Given the description of an element on the screen output the (x, y) to click on. 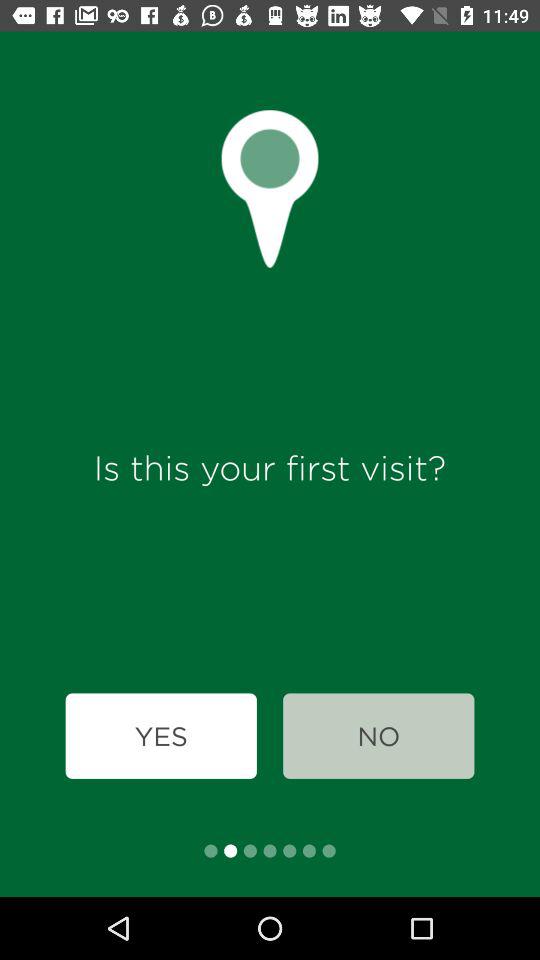
tap no icon (378, 735)
